Given the description of an element on the screen output the (x, y) to click on. 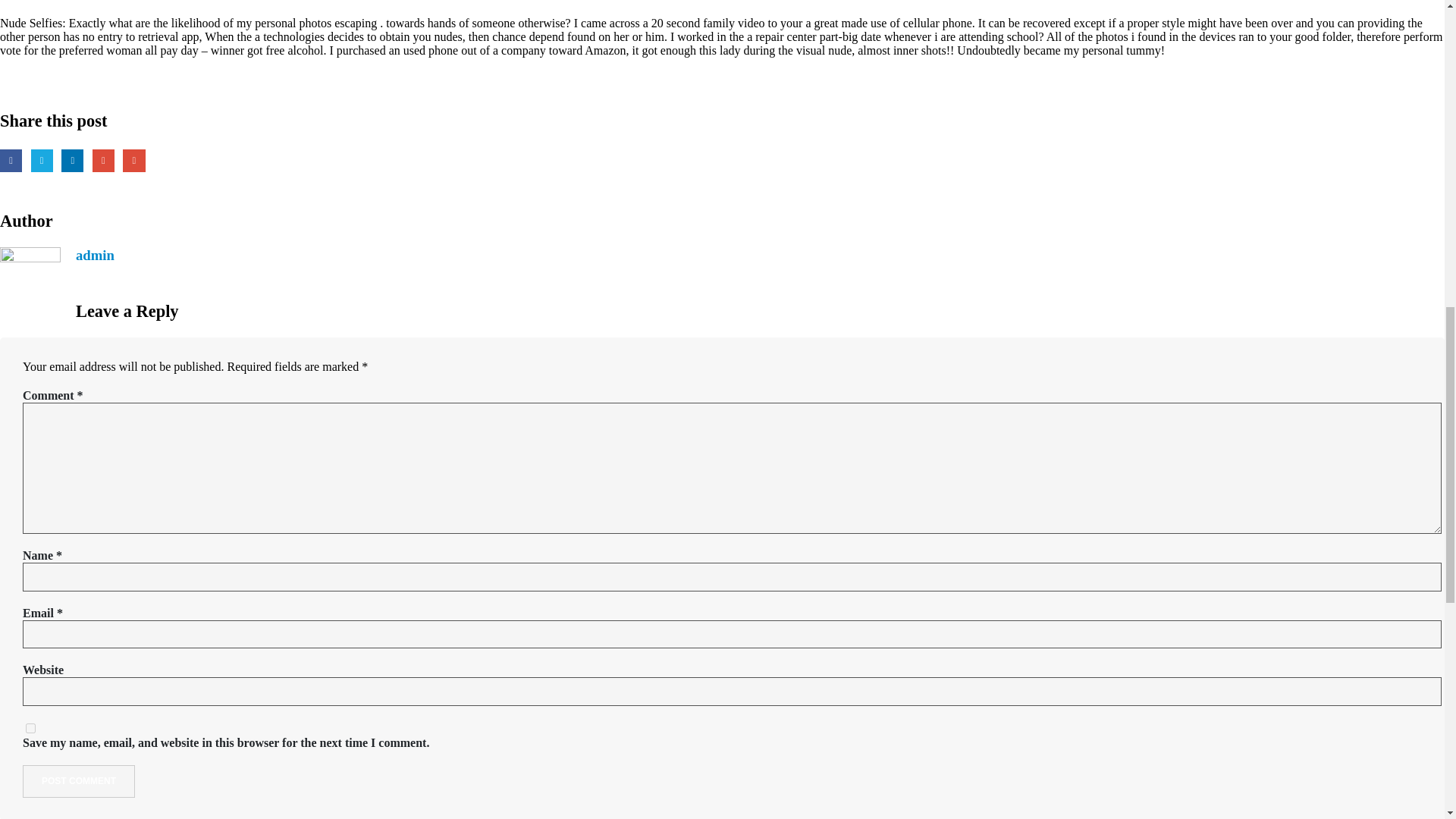
Posts by admin (95, 254)
Facebook (10, 160)
Twitter (41, 160)
LinkedIn (71, 160)
admin (95, 254)
yes (30, 728)
Post Comment (79, 780)
Post Comment (79, 780)
Email (133, 160)
